Given the description of an element on the screen output the (x, y) to click on. 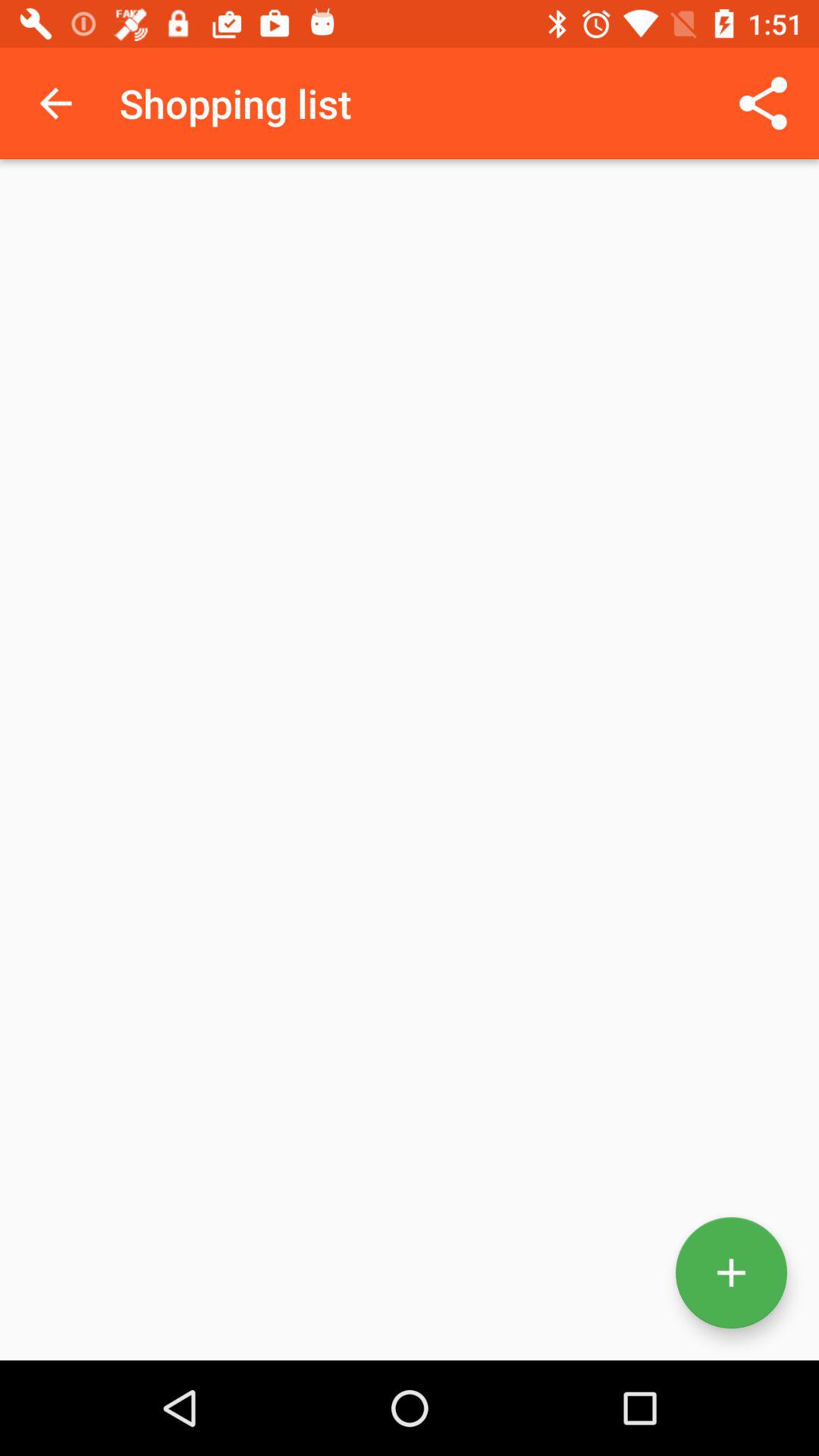
press the icon at the top right corner (763, 103)
